Given the description of an element on the screen output the (x, y) to click on. 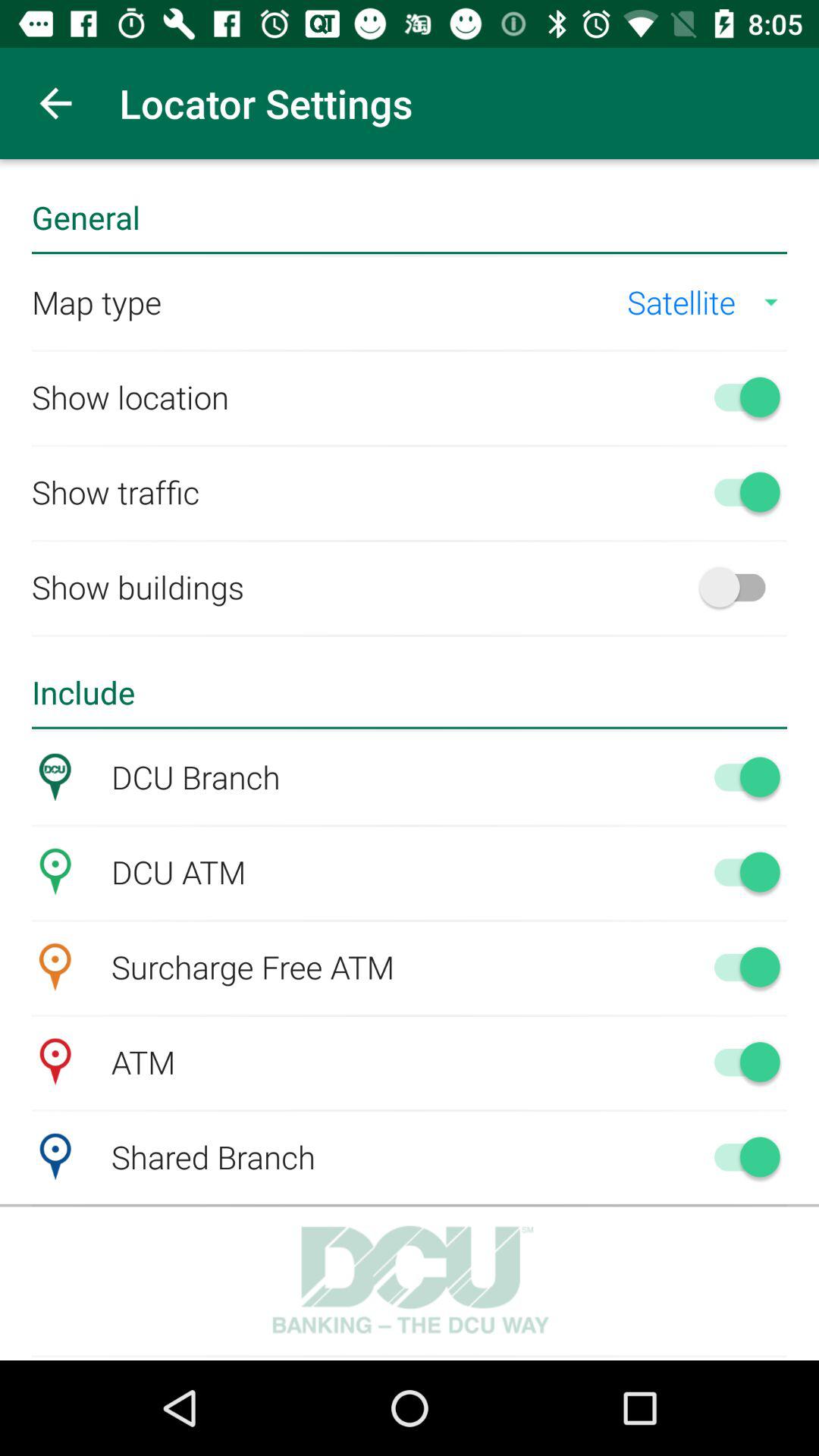
click app next to locator settings (55, 103)
